Given the description of an element on the screen output the (x, y) to click on. 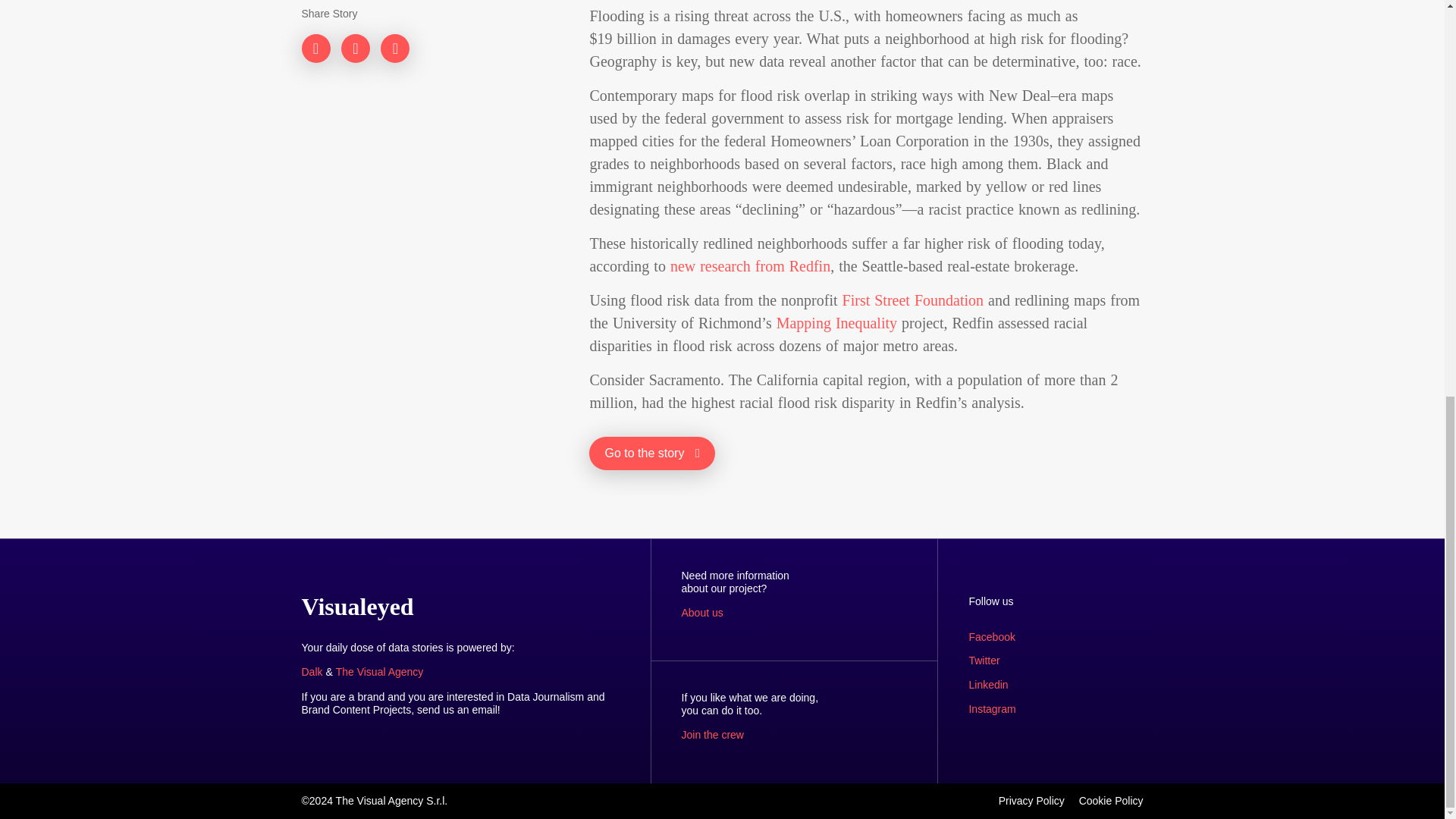
The Visual Agency (379, 671)
About us (701, 612)
Instagram (991, 708)
First Street Foundation (913, 299)
Twitter (983, 660)
Join the crew (711, 734)
Linkedin (987, 684)
Privacy Policy (1031, 800)
Go to the story (651, 453)
new research from Redfin (749, 265)
